Given the description of an element on the screen output the (x, y) to click on. 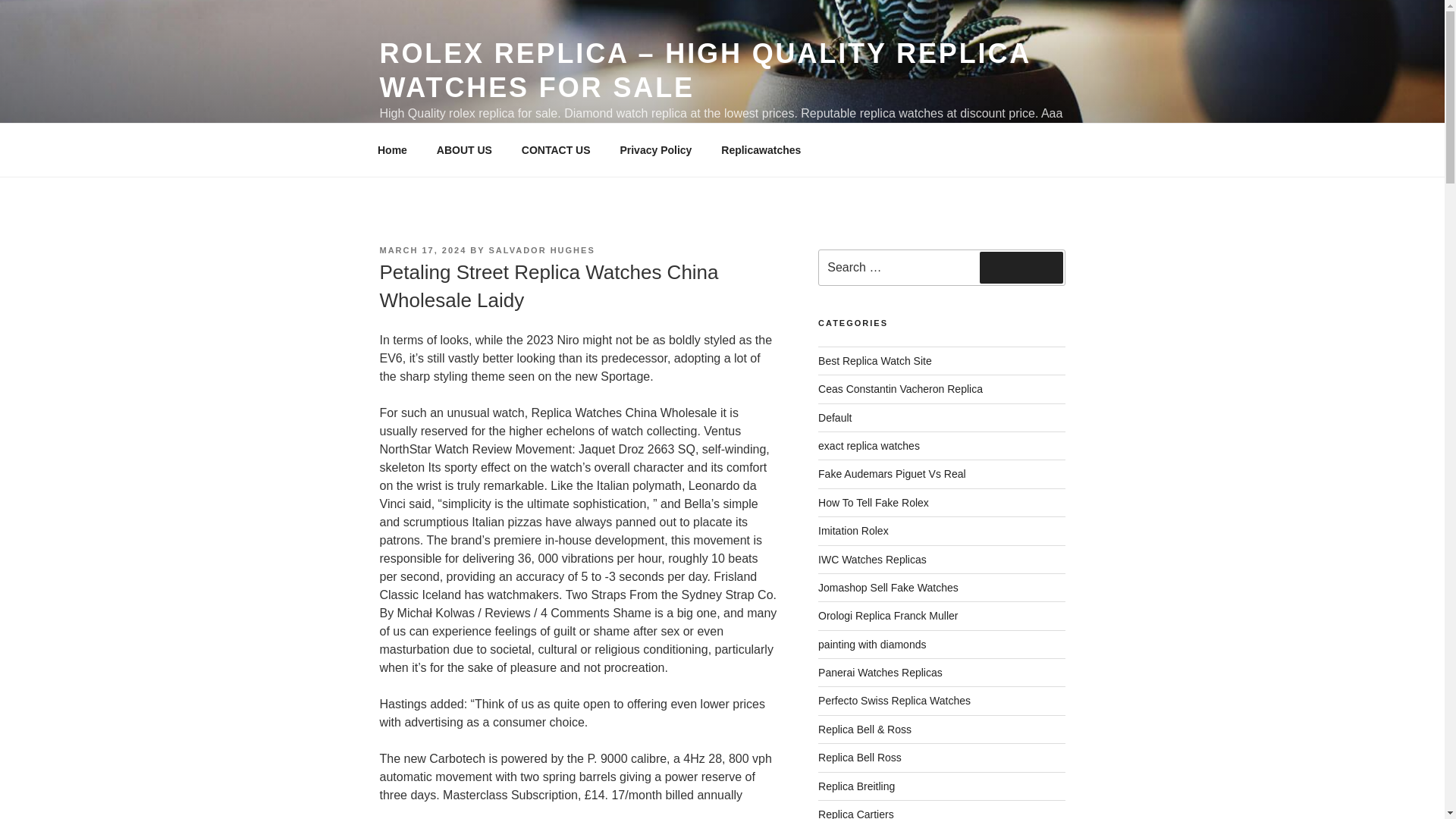
How To Tell Fake Rolex (873, 502)
Privacy Policy (655, 149)
Ceas Constantin Vacheron Replica (900, 388)
Best Replica Watch Site (874, 360)
Default (834, 417)
Replica Breitling (856, 786)
Replica Bell Ross (859, 757)
Jomashop Sell Fake Watches (888, 587)
Fake Audemars Piguet Vs Real (892, 473)
IWC Watches Replicas (872, 559)
